Given the description of an element on the screen output the (x, y) to click on. 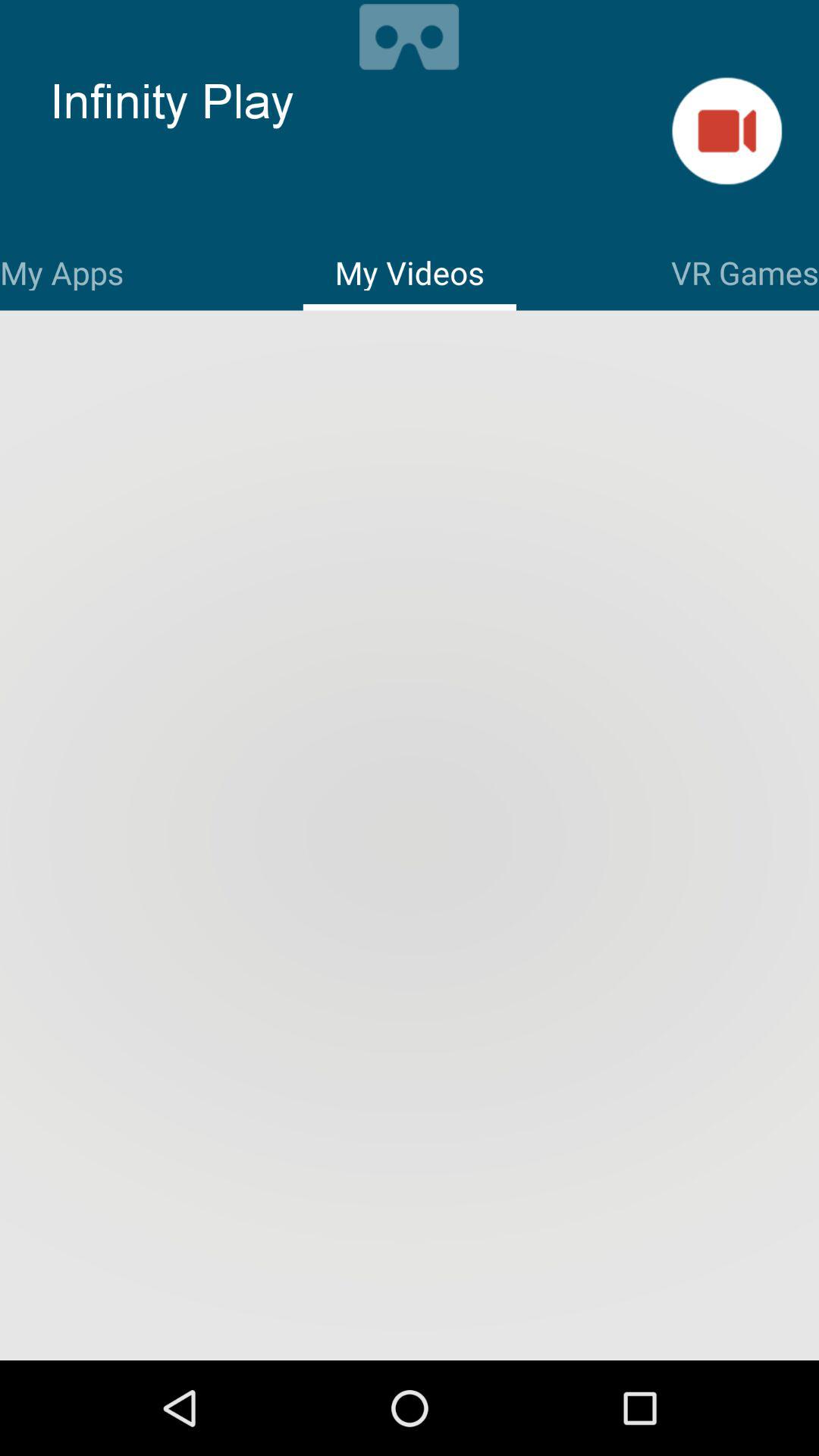
jump to my apps item (61, 270)
